Given the description of an element on the screen output the (x, y) to click on. 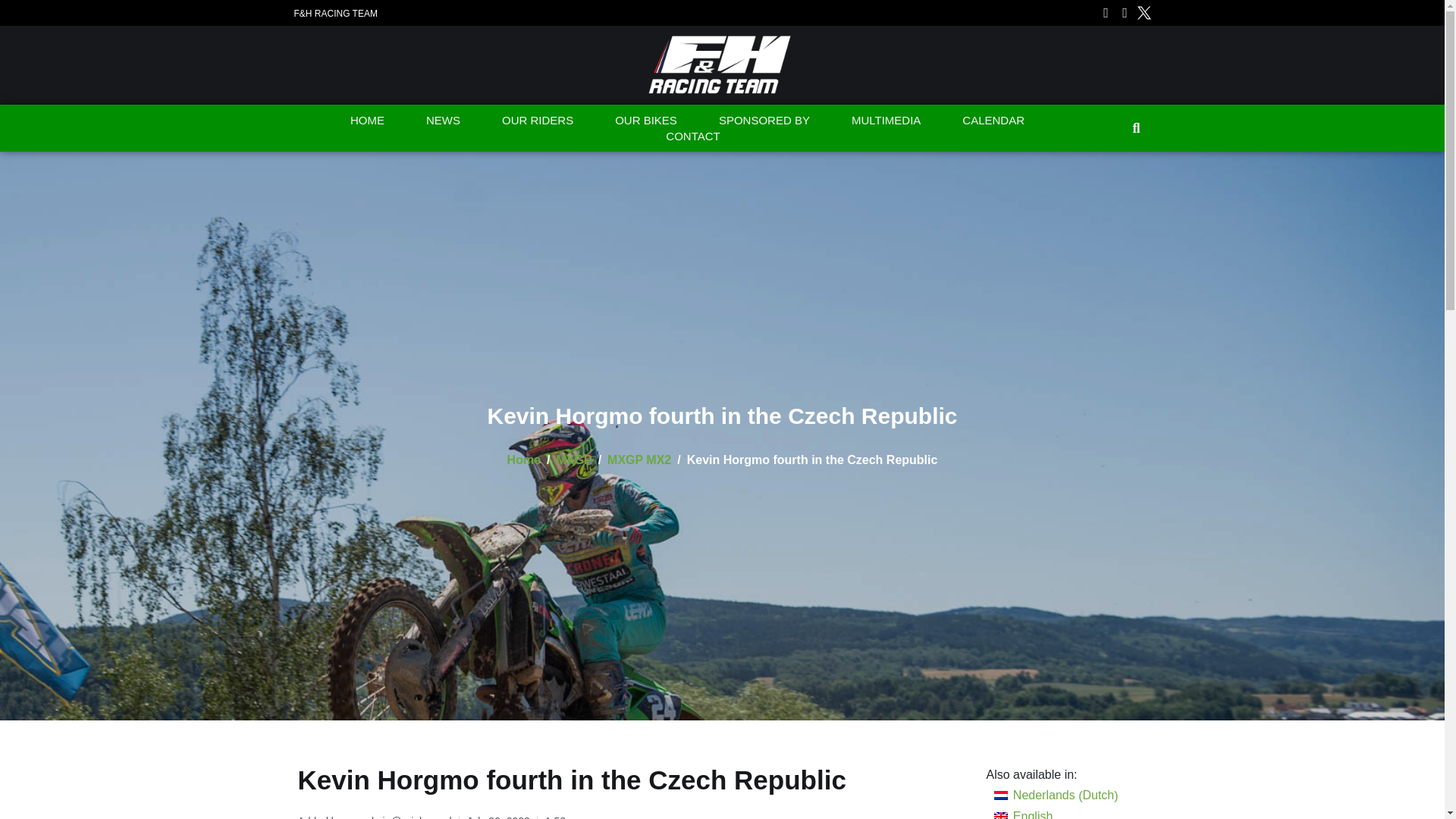
OUR RIDERS (537, 119)
English (1056, 812)
HOME (366, 119)
OUR BIKES (646, 119)
MULTIMEDIA (885, 119)
Home (523, 459)
CALENDAR (993, 119)
MXGP (574, 459)
MXGP MX2 (639, 459)
CONTACT (692, 135)
NEWS (443, 119)
SPONSORED BY (764, 119)
